Given the description of an element on the screen output the (x, y) to click on. 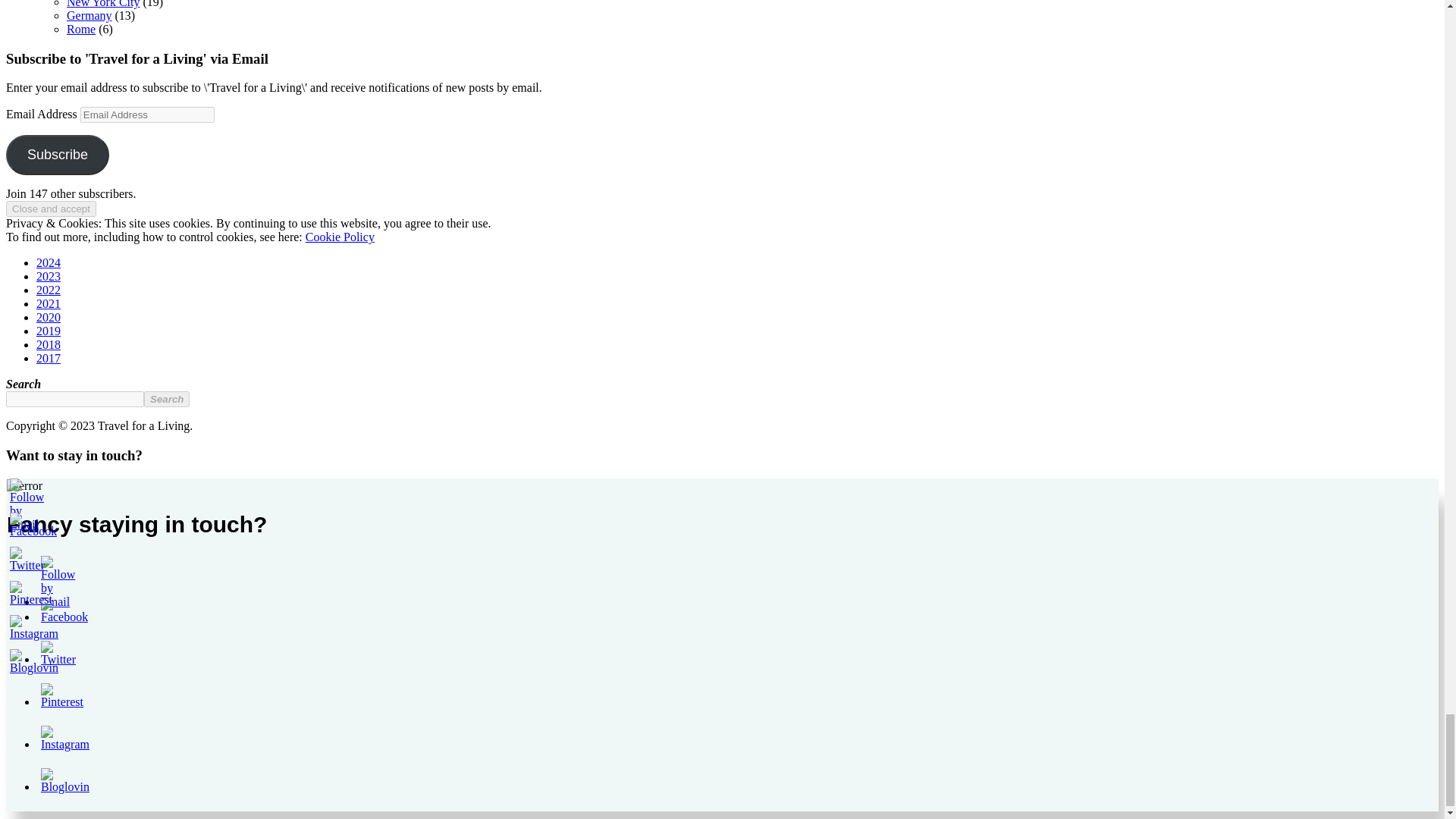
Pinterest (31, 593)
Twitter (27, 559)
Facebook (33, 525)
Close and accept (50, 208)
